Given the description of an element on the screen output the (x, y) to click on. 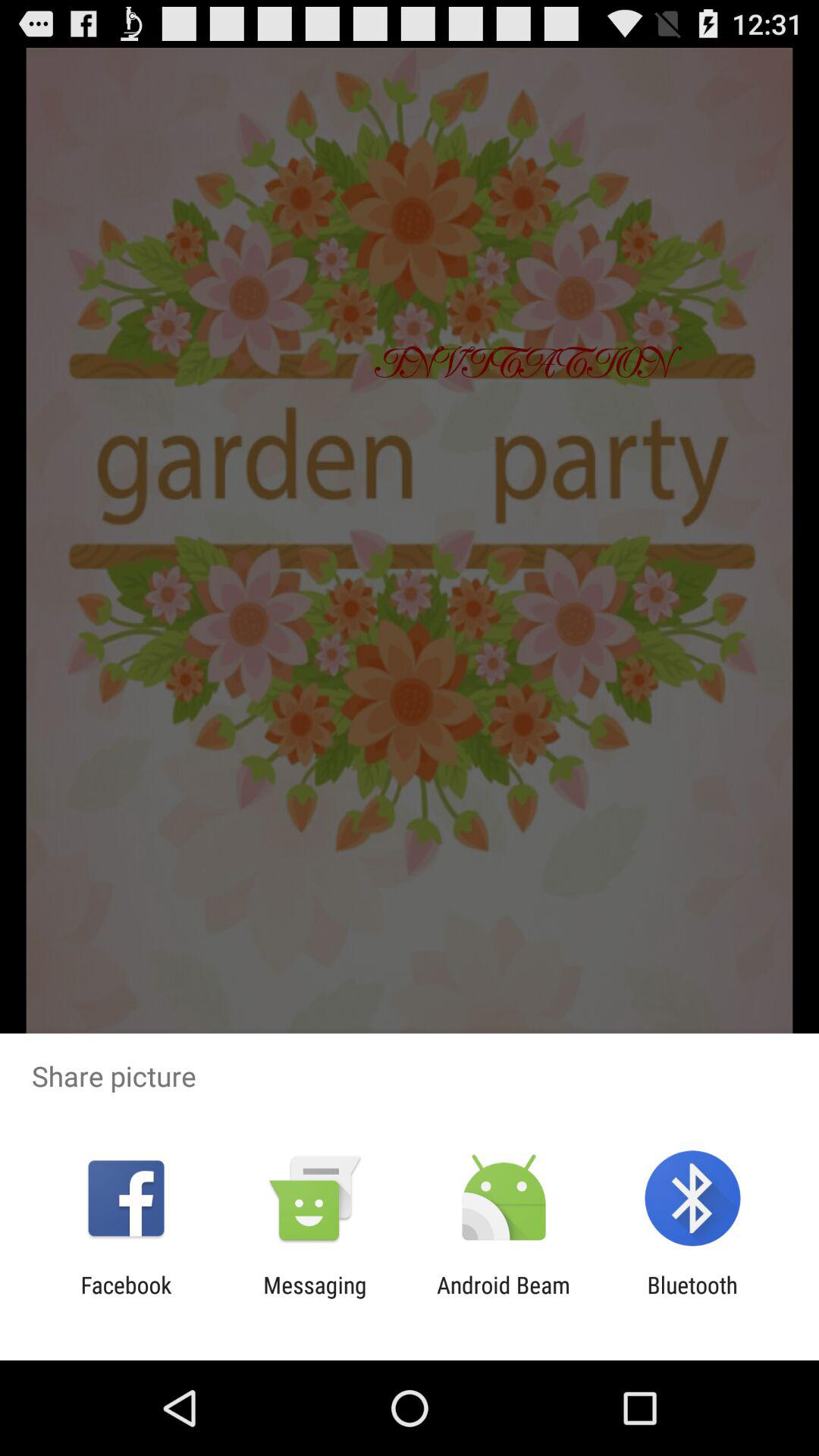
flip until messaging icon (314, 1298)
